Given the description of an element on the screen output the (x, y) to click on. 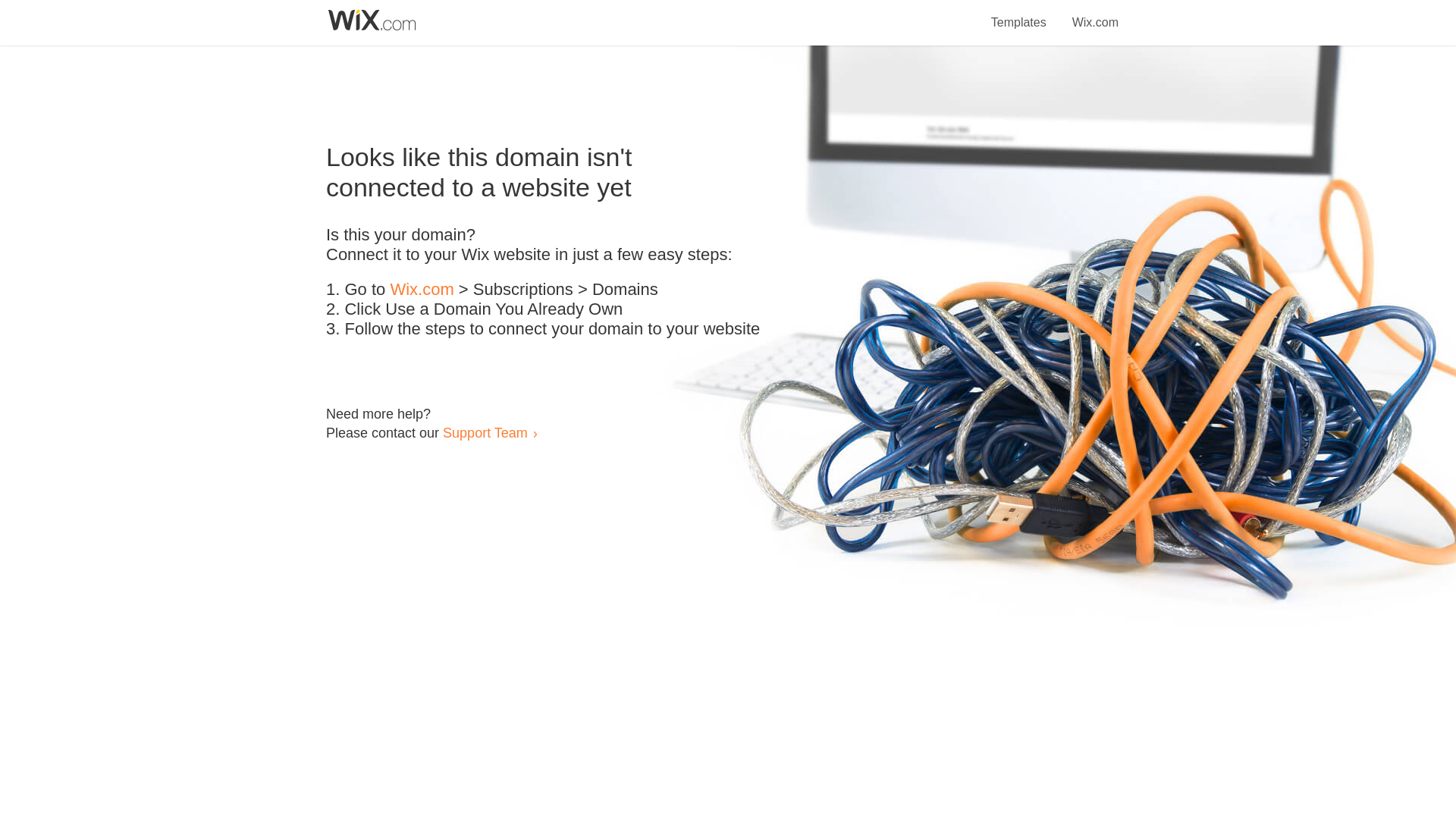
Wix.com (421, 289)
Templates (1018, 14)
Support Team (484, 432)
Wix.com (1095, 14)
